Given the description of an element on the screen output the (x, y) to click on. 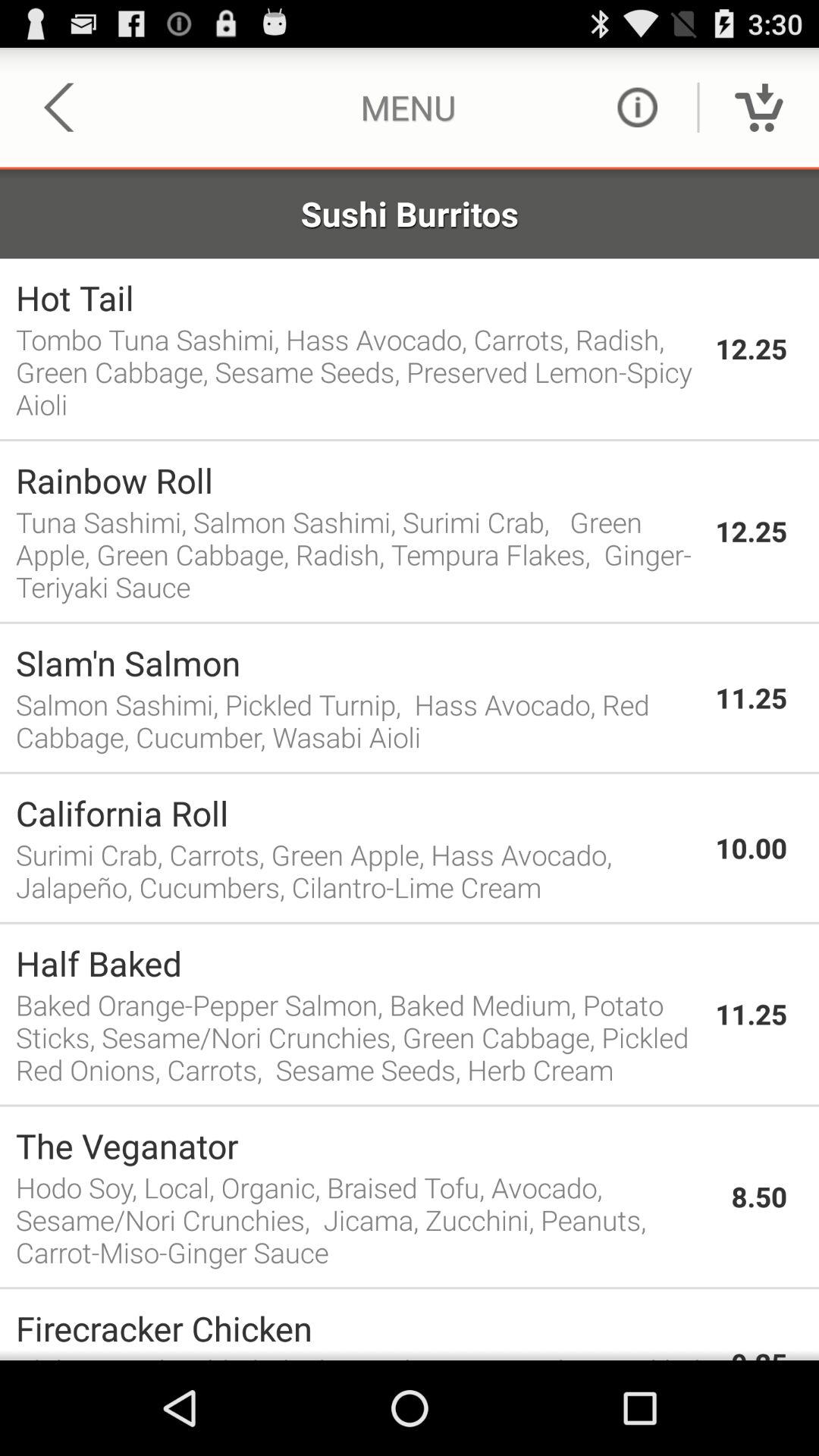
turn on item below tuna sashimi salmon item (409, 622)
